Given the description of an element on the screen output the (x, y) to click on. 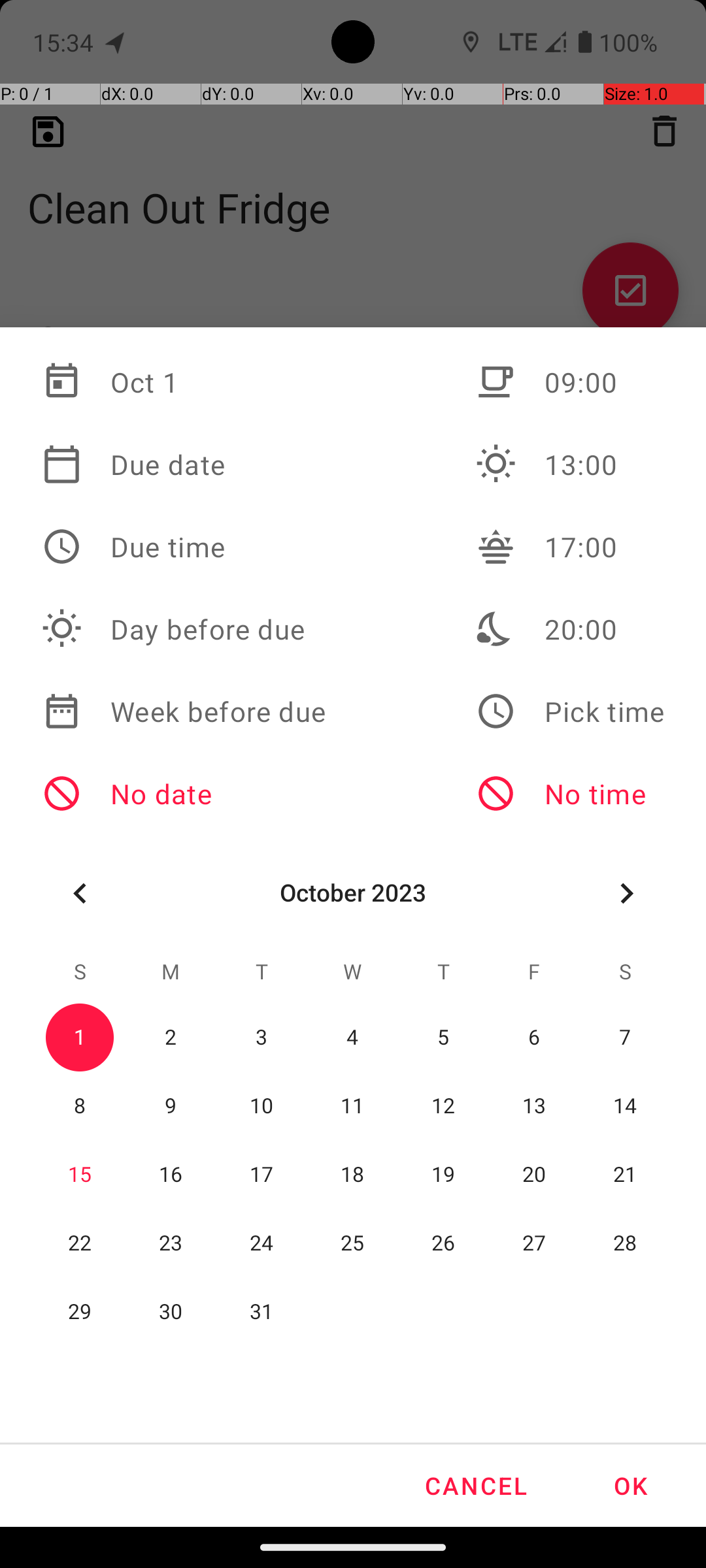
Oct 1 Element type: android.widget.CompoundButton (183, 382)
Due date Element type: android.widget.CompoundButton (183, 464)
Due time Element type: android.widget.CompoundButton (183, 546)
Day before due Element type: android.widget.CompoundButton (183, 629)
Week before due Element type: android.widget.CompoundButton (183, 711)
